Given the description of an element on the screen output the (x, y) to click on. 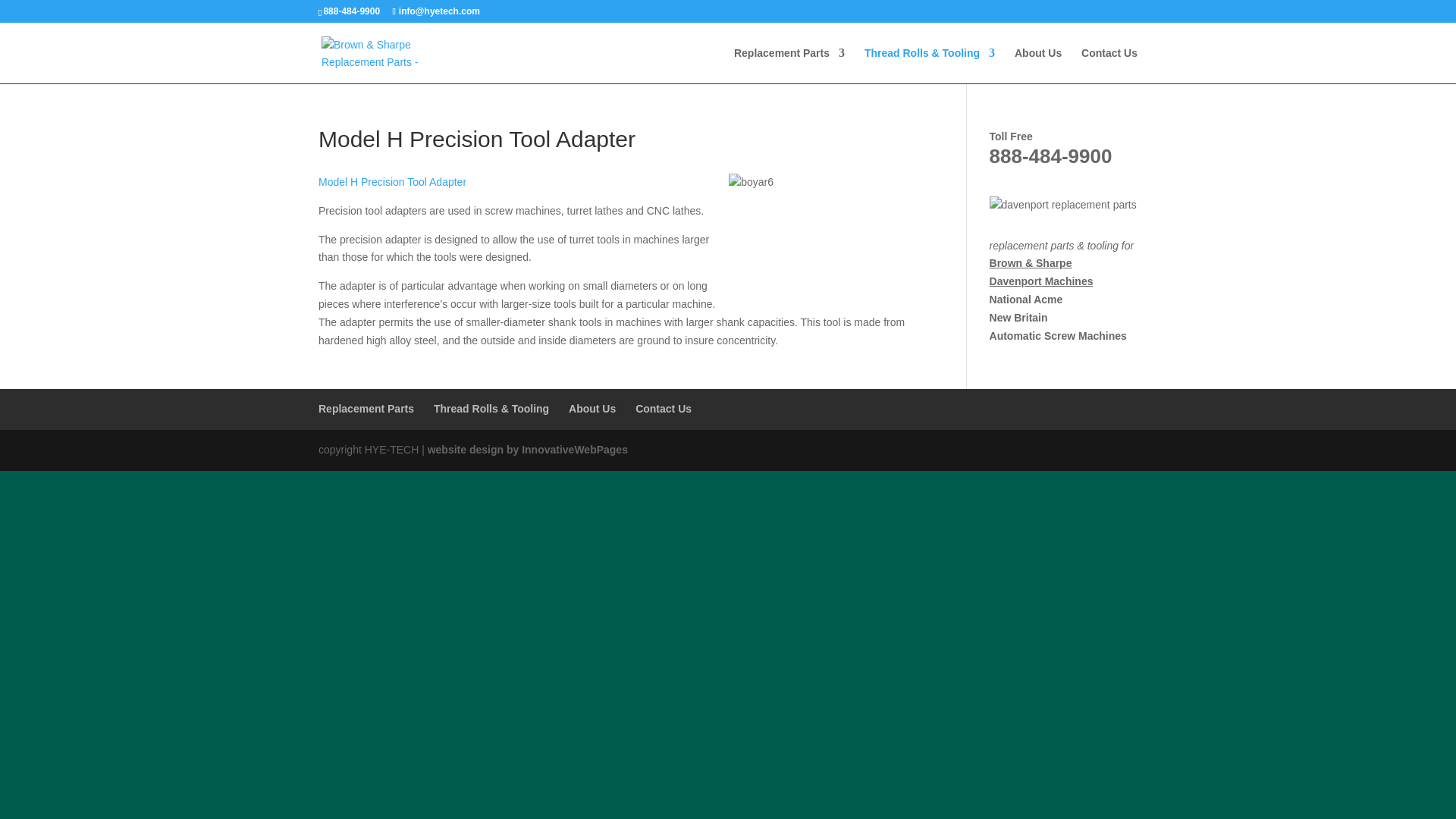
Model H Precision Tool Adapter (391, 182)
About Us (592, 408)
Davenport Machines (1041, 281)
888-484-9900 (1051, 155)
Contact Us (1109, 65)
Contact Us (662, 408)
website design by InnovativeWebPages (527, 449)
About Us (1037, 65)
Replacement Parts (788, 65)
Replacement Parts (365, 408)
